Given the description of an element on the screen output the (x, y) to click on. 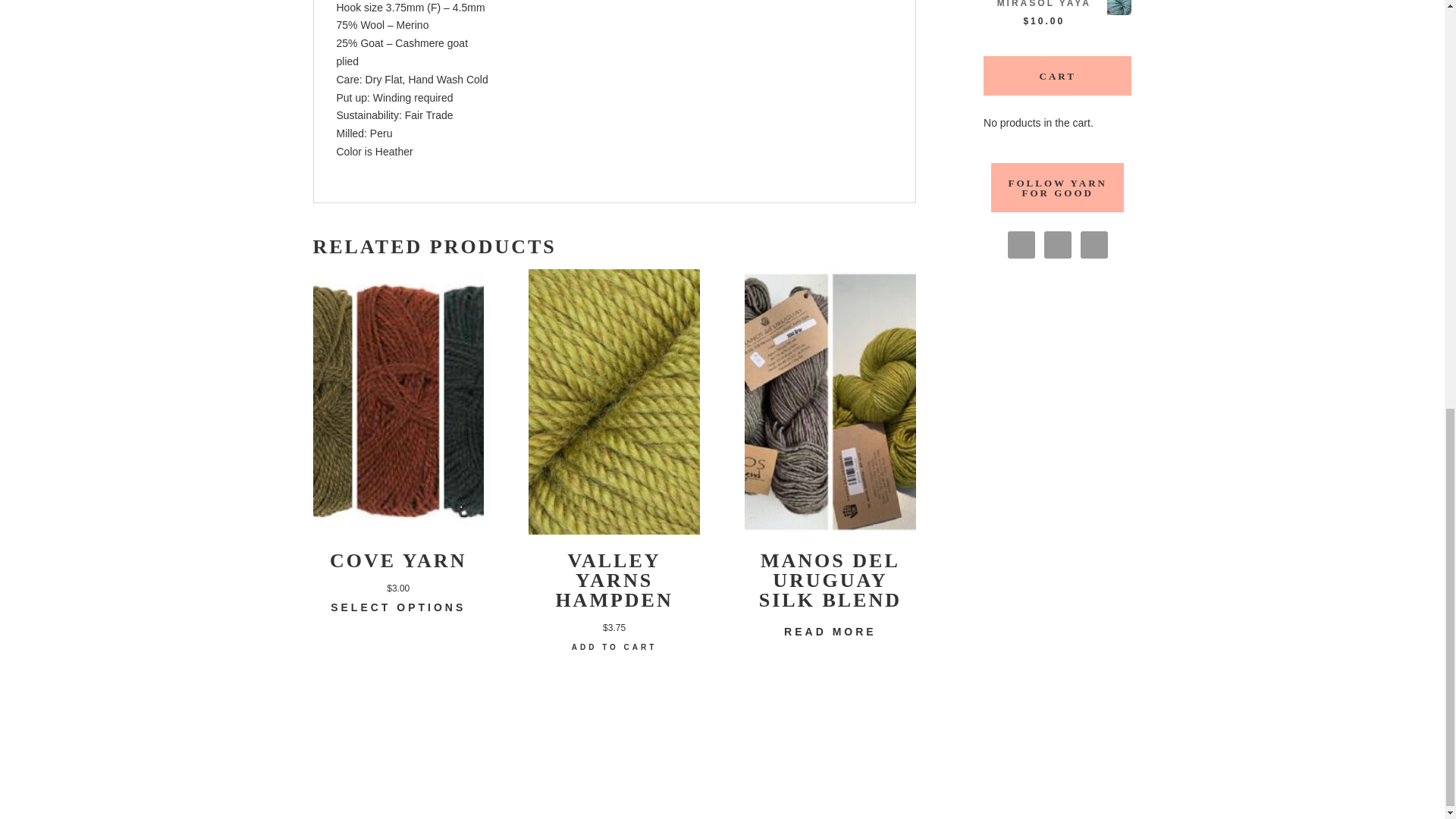
READ MORE (829, 631)
SELECT OPTIONS (398, 607)
MIRASOL YAYA (1057, 6)
ADD TO CART (614, 646)
